Given the description of an element on the screen output the (x, y) to click on. 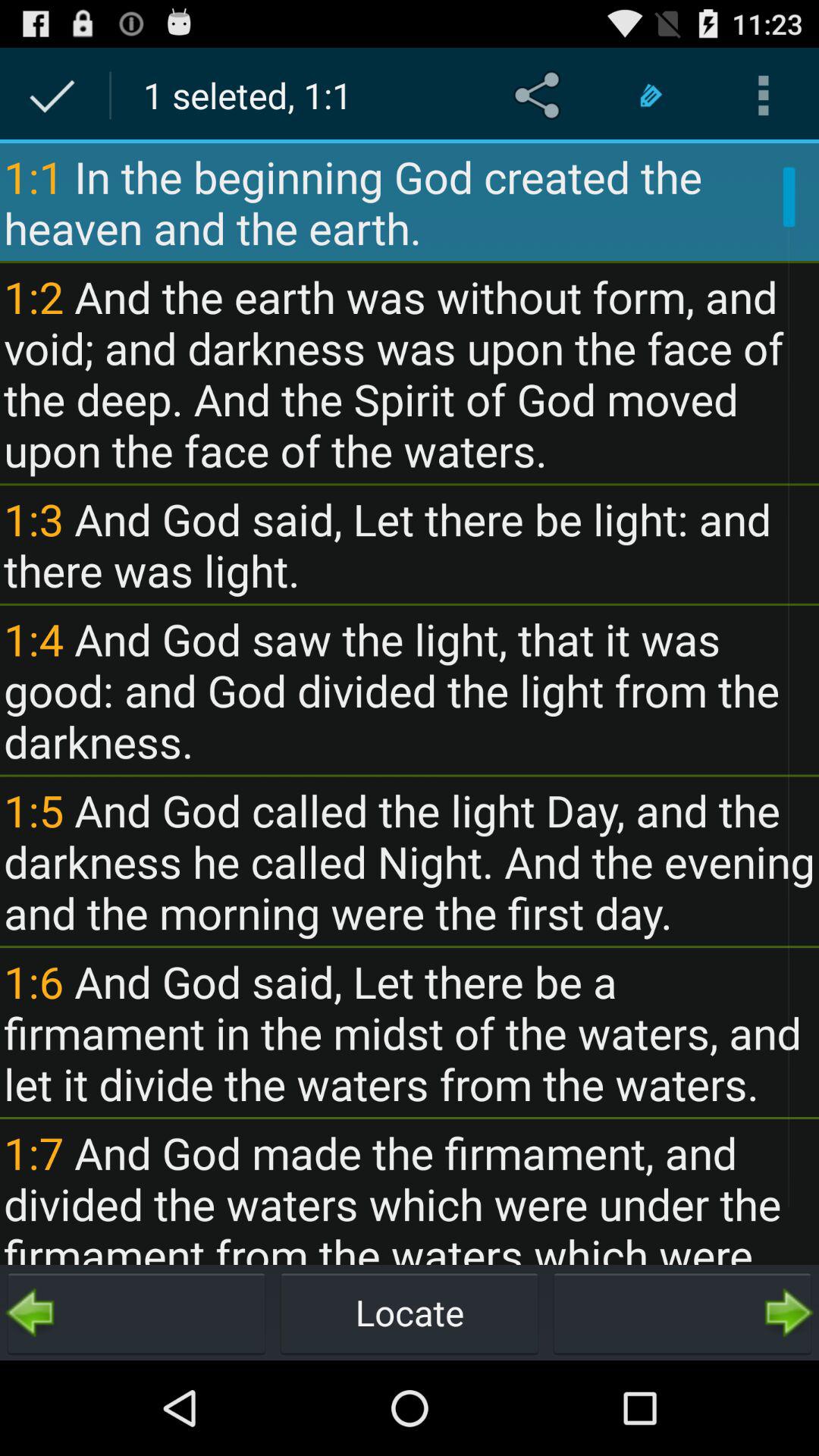
select item to the left of the locate item (136, 1312)
